Given the description of an element on the screen output the (x, y) to click on. 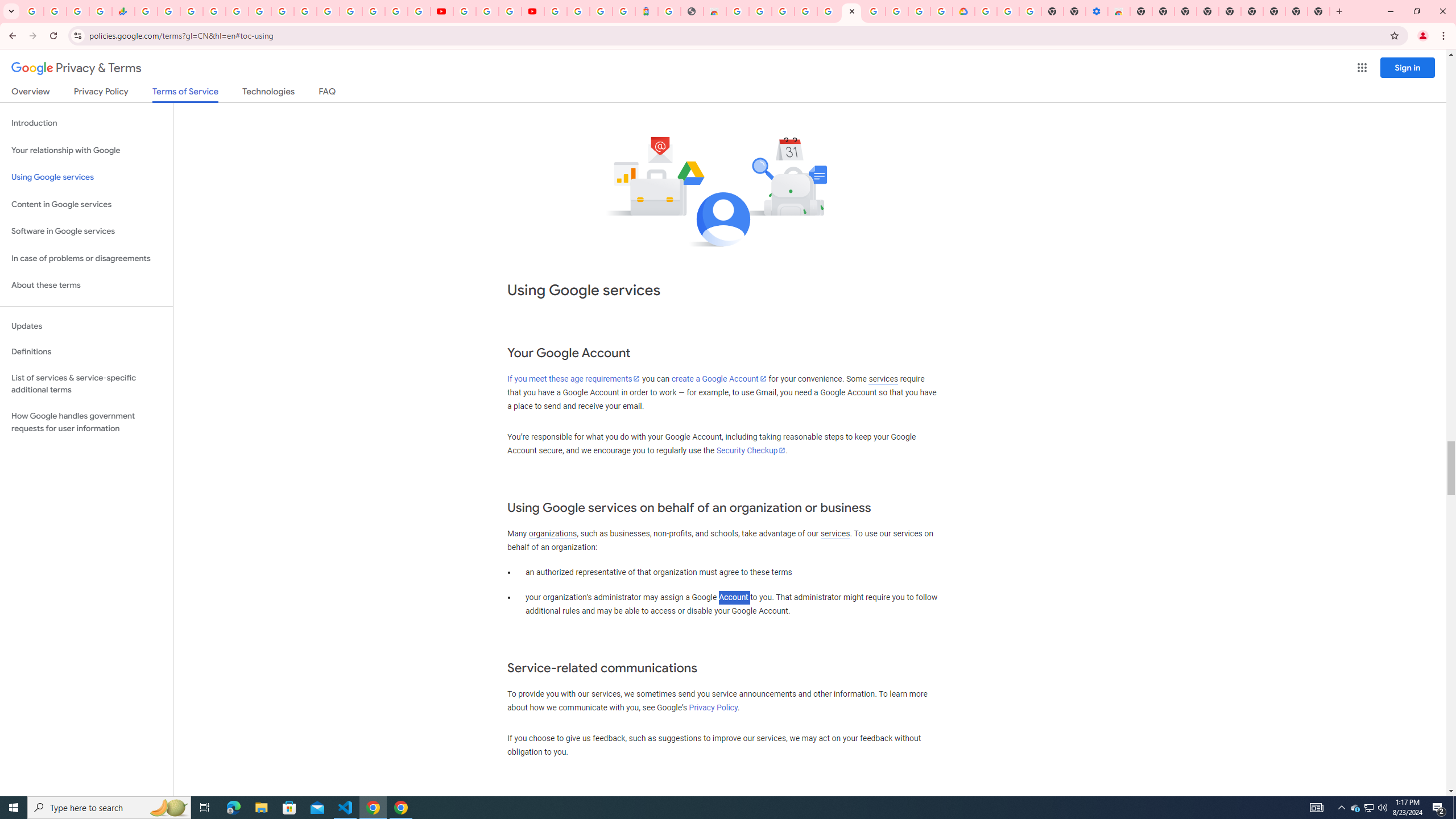
Security Checkup (751, 450)
YouTube (441, 11)
Atour Hotel - Google hotels (646, 11)
New Tab (1319, 11)
Google Account Help (1008, 11)
Google Account Help (486, 11)
Terms of Service (184, 94)
create a Google Account (719, 378)
Sign in - Google Accounts (828, 11)
Definitions (86, 352)
